Given the description of an element on the screen output the (x, y) to click on. 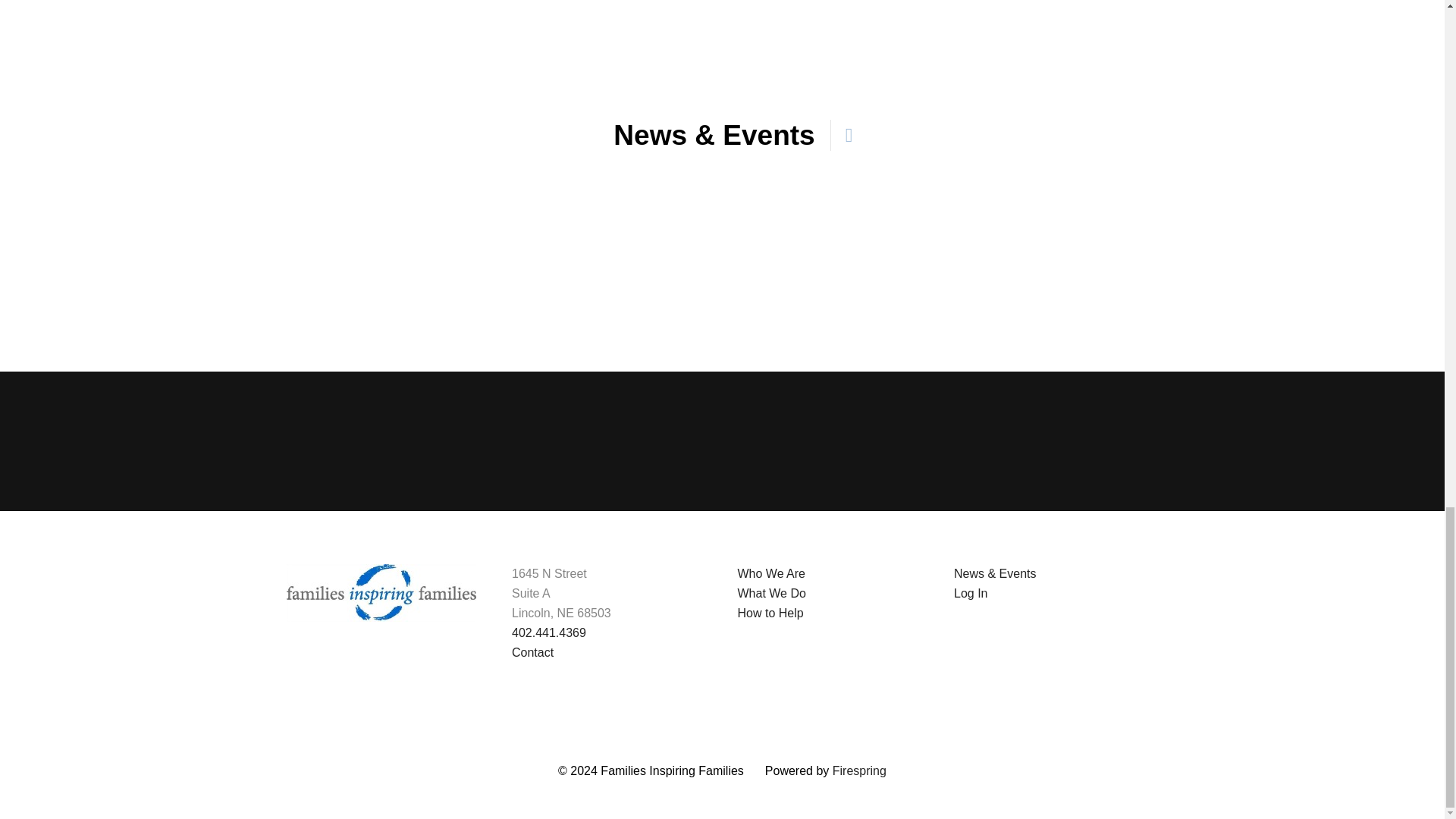
logo (381, 592)
